Given the description of an element on the screen output the (x, y) to click on. 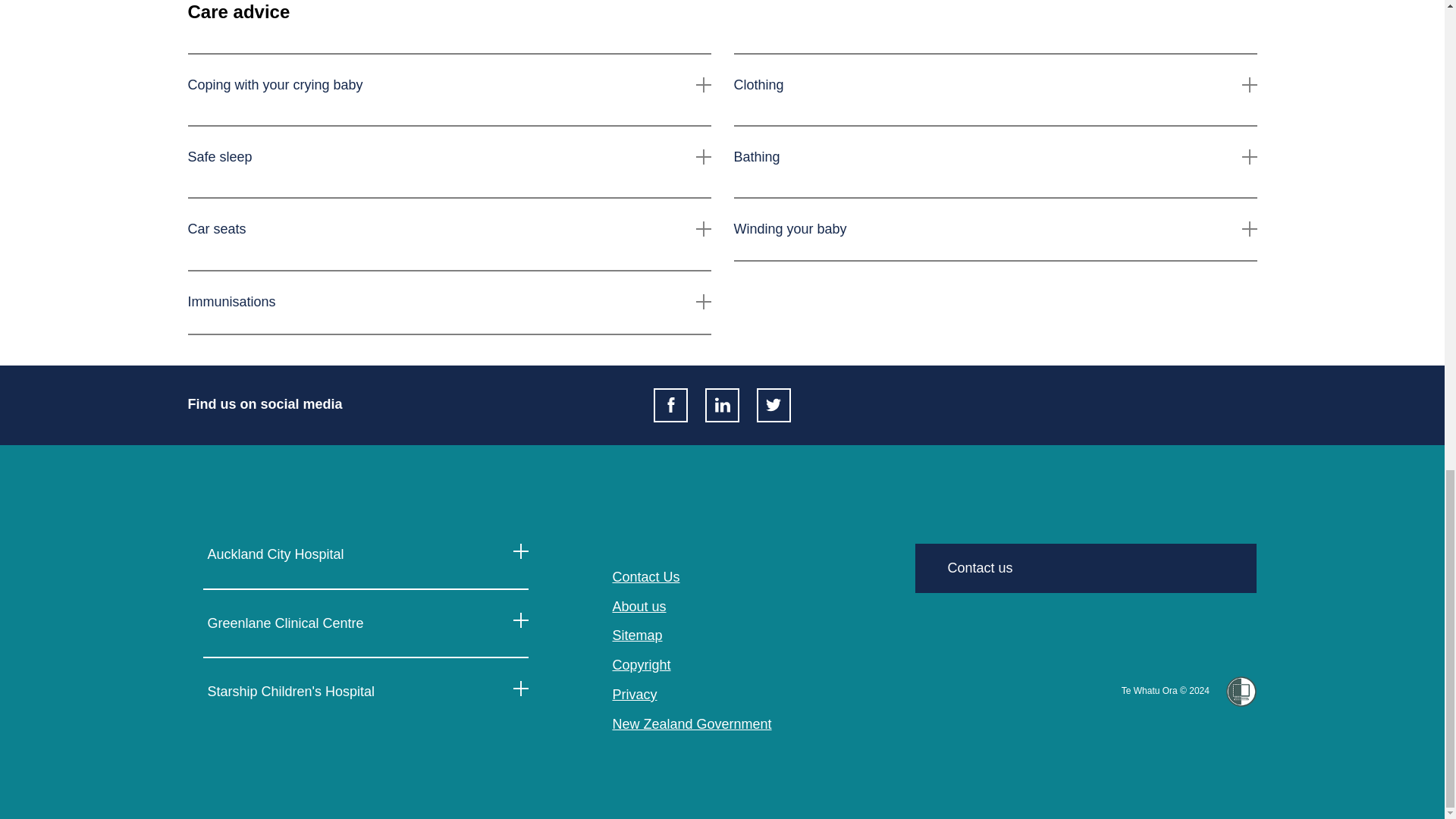
LinkedIn Page (721, 405)
Facebook Page (670, 405)
Twitter Page (773, 405)
